Given the description of an element on the screen output the (x, y) to click on. 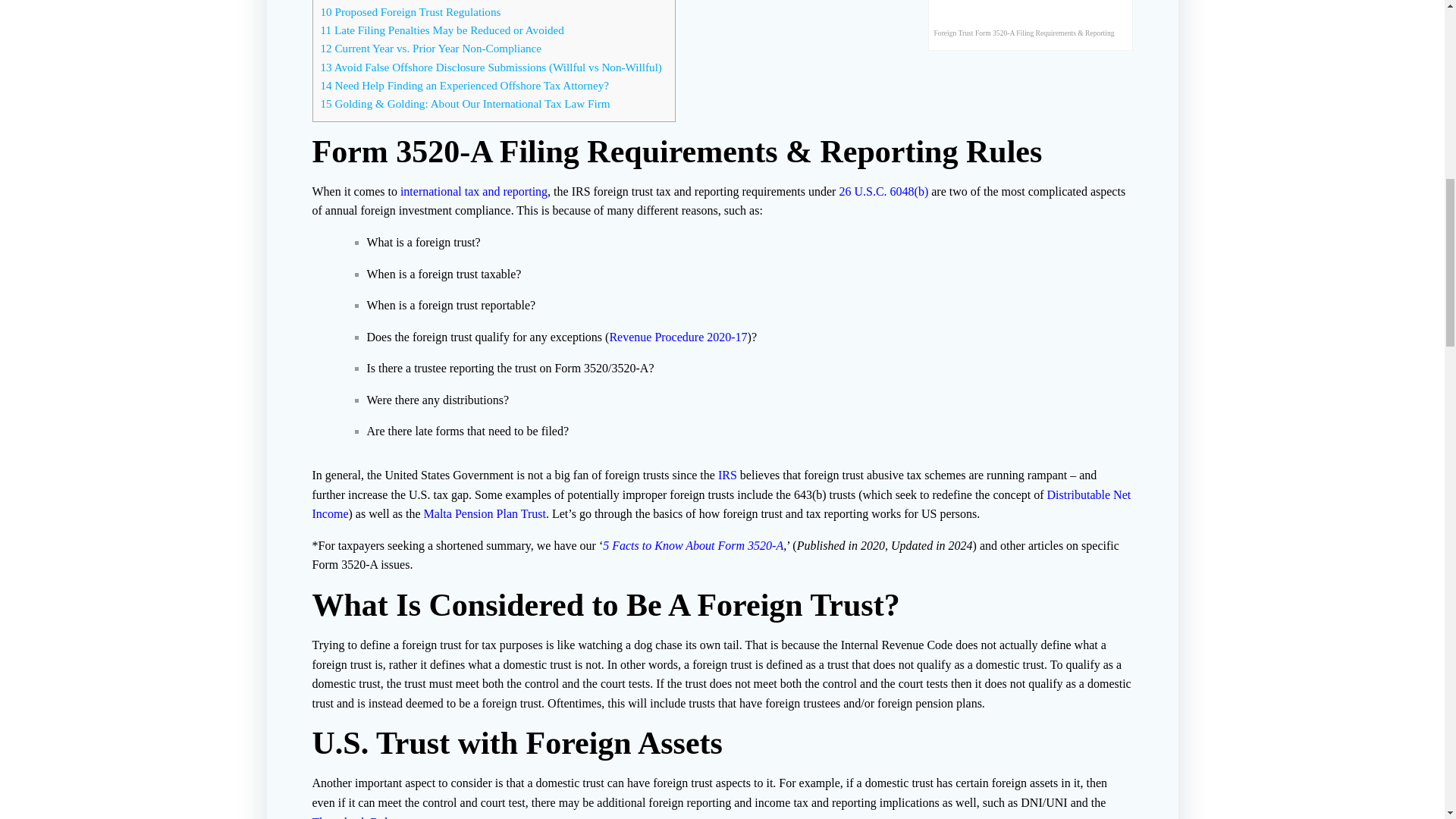
12 Current Year vs. Prior Year Non-Compliance (430, 47)
14 Need Help Finding an Experienced Offshore Tax Attorney? (464, 84)
11 Late Filing Penalties May be Reduced or Avoided (441, 29)
10 Proposed Foreign Trust Regulations (410, 11)
